Given the description of an element on the screen output the (x, y) to click on. 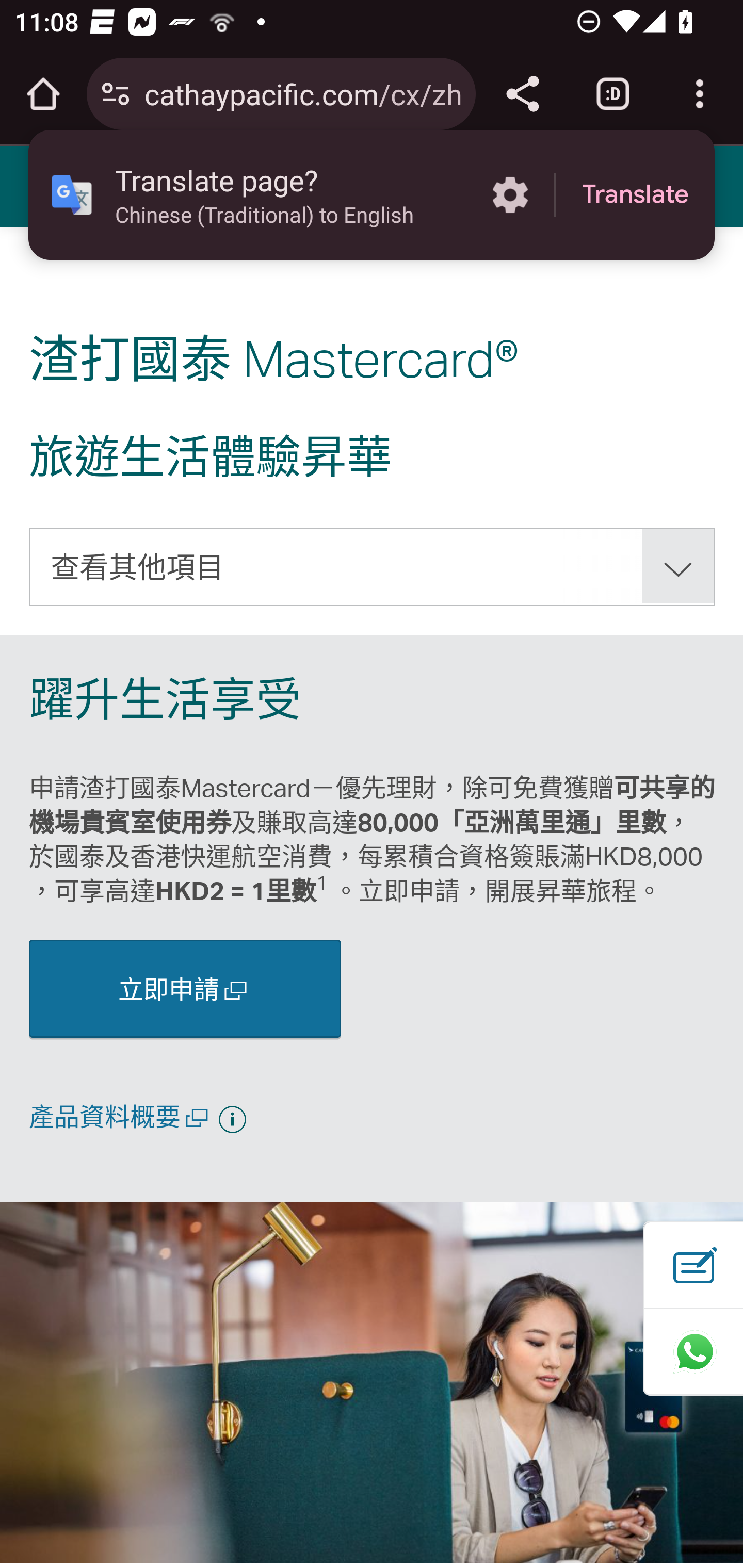
Open the home page (43, 93)
Connection is secure (115, 93)
Share (522, 93)
Switch or close tabs (612, 93)
Customize and control Google Chrome (699, 93)
Translate (634, 195)
功能表 (47, 186)
More options in the Translate page? (509, 195)
查看其他項目 (372, 566)
立即申請 開啟新視窗 立即申請 開啟新視窗 (184, 988)
產品資料概要 開啟新視窗 產品資料概要 開啟新視窗 (121, 1115)
